Given the description of an element on the screen output the (x, y) to click on. 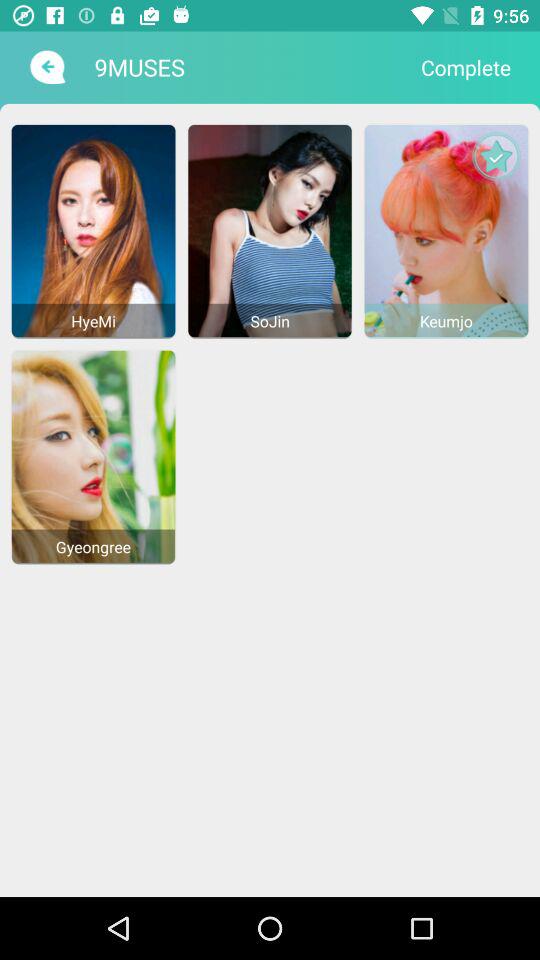
previous page (45, 67)
